Given the description of an element on the screen output the (x, y) to click on. 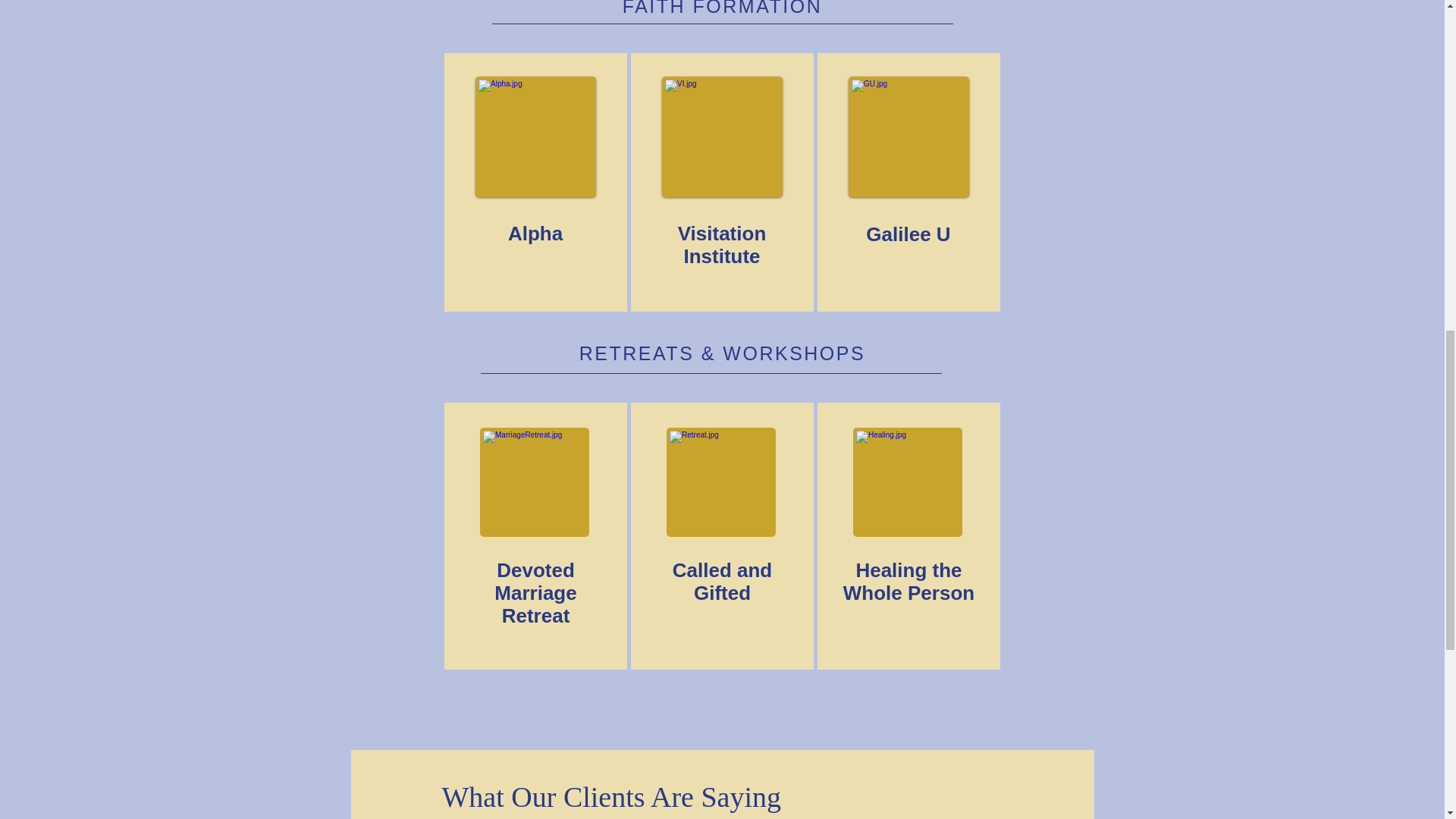
Ashwood.jpg (535, 136)
Called and Gifted (721, 581)
Galilee U (908, 233)
Ashwood.jpg (908, 136)
Alpha (535, 233)
Healing the Whole Person (908, 581)
Ashwood.jpg (534, 482)
Ashwood.jpg (907, 482)
Ashwood.jpg (721, 482)
Devoted Marriage Retreat (535, 593)
Ashwood.jpg (722, 136)
Visitation Institute (722, 244)
